Given the description of an element on the screen output the (x, y) to click on. 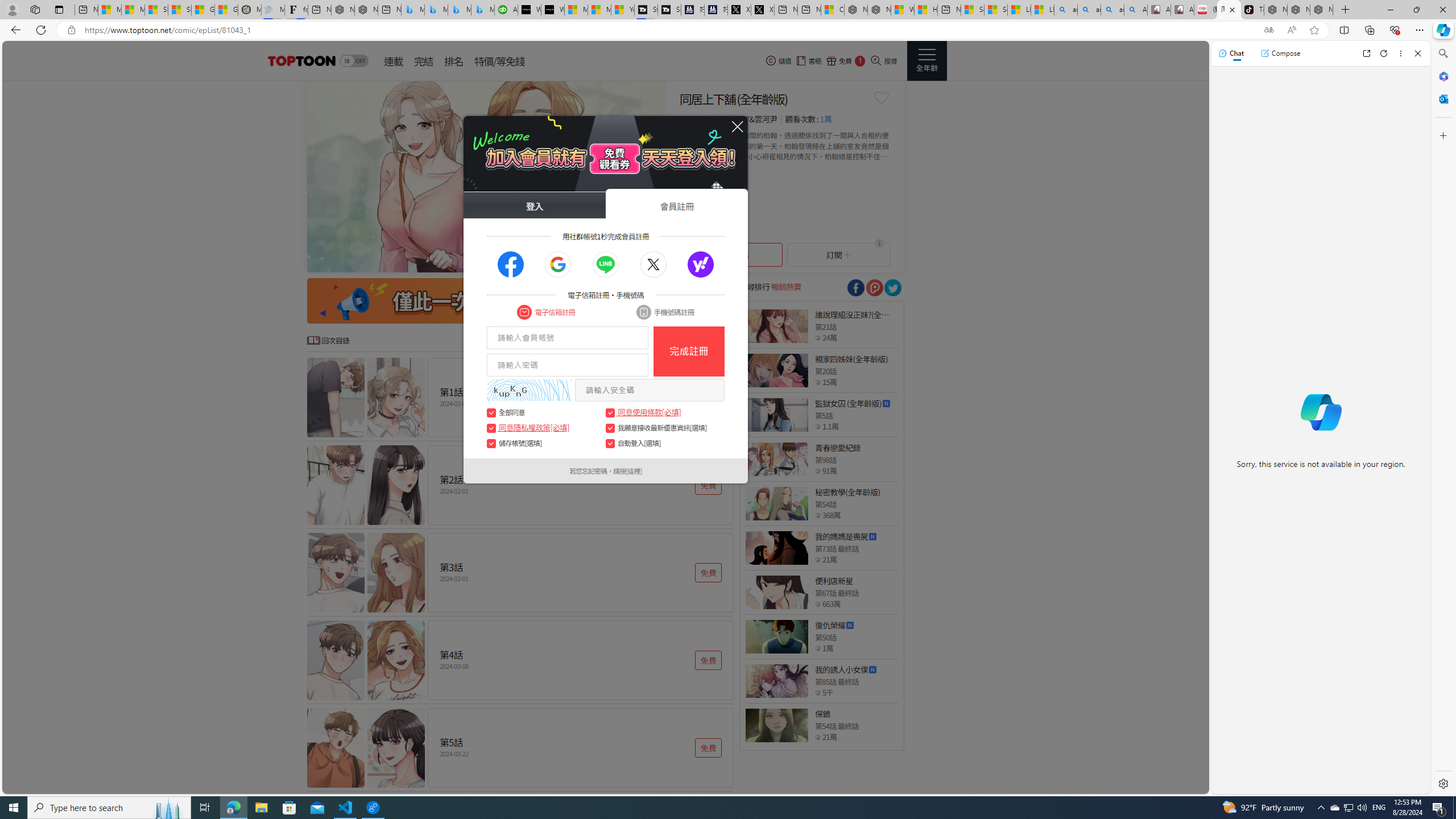
View site information (70, 29)
Address and search bar (669, 29)
Personal Profile (12, 9)
Split screen (1344, 29)
Add this page to favorites (Ctrl+D) (1314, 29)
Workspaces (34, 9)
TikTok (1252, 9)
